Given the description of an element on the screen output the (x, y) to click on. 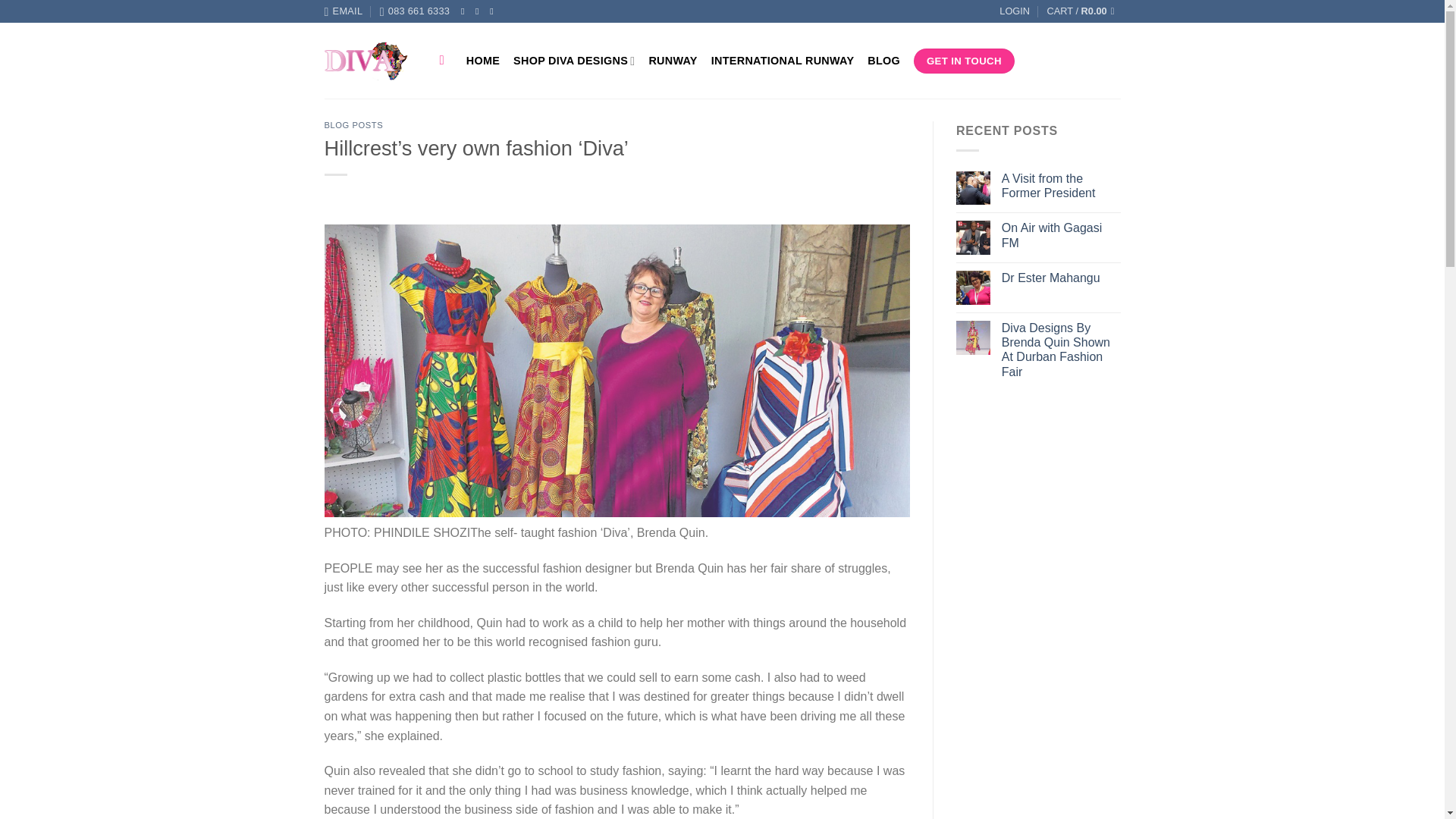
083 661 6333 (414, 11)
BLOG (883, 60)
INTERNATIONAL RUNWAY (782, 60)
LOGIN (1013, 11)
083 661 6333 (414, 11)
Follow on Instagram (480, 10)
SHOP DIVA DESIGNS (573, 60)
Follow on Facebook (465, 10)
Follow on Twitter (494, 10)
HOME (482, 60)
BLOG POSTS (354, 124)
Cart (1082, 11)
GET IN TOUCH (964, 61)
RUNWAY (672, 60)
